Given the description of an element on the screen output the (x, y) to click on. 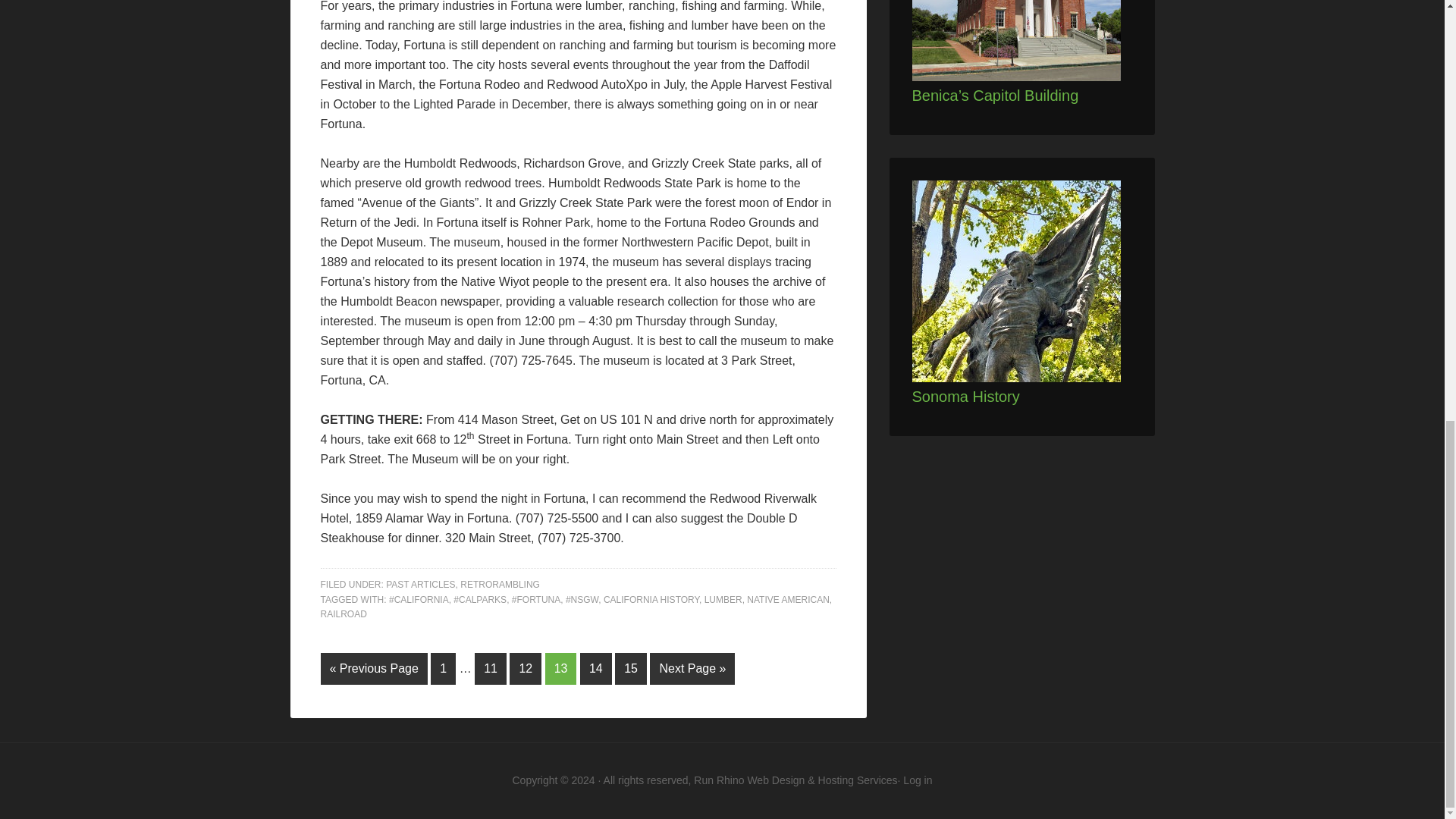
NATIVE AMERICAN (787, 599)
RAILROAD (343, 614)
12 (525, 668)
CALIFORNIA HISTORY (651, 599)
Sonoma History (965, 396)
PAST ARTICLES (419, 584)
Log in (916, 779)
LUMBER (723, 599)
RETRORAMBLING (500, 584)
14 (595, 668)
13 (560, 668)
11 (490, 668)
15 (630, 668)
